Given the description of an element on the screen output the (x, y) to click on. 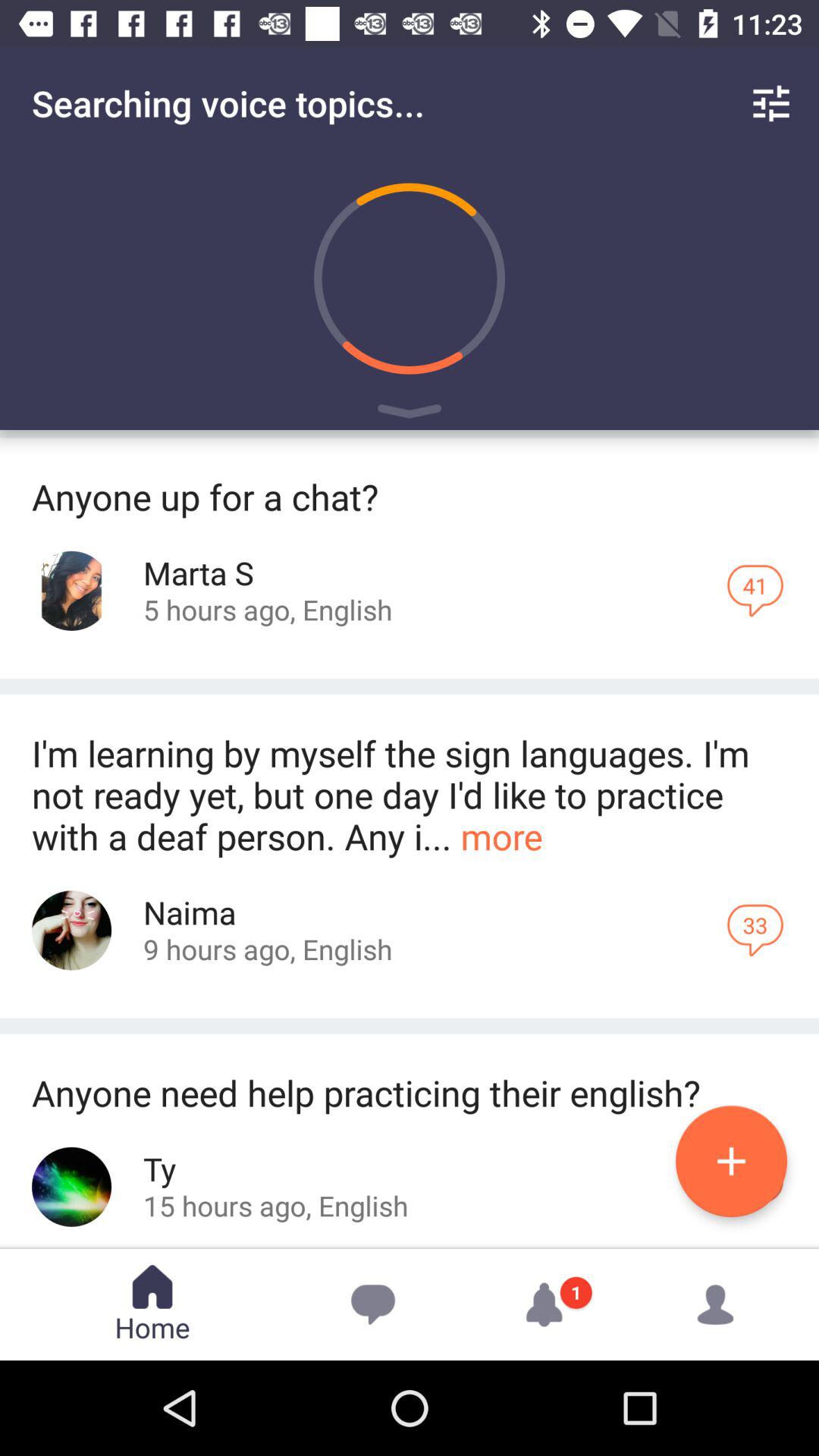
profile (71, 1186)
